Given the description of an element on the screen output the (x, y) to click on. 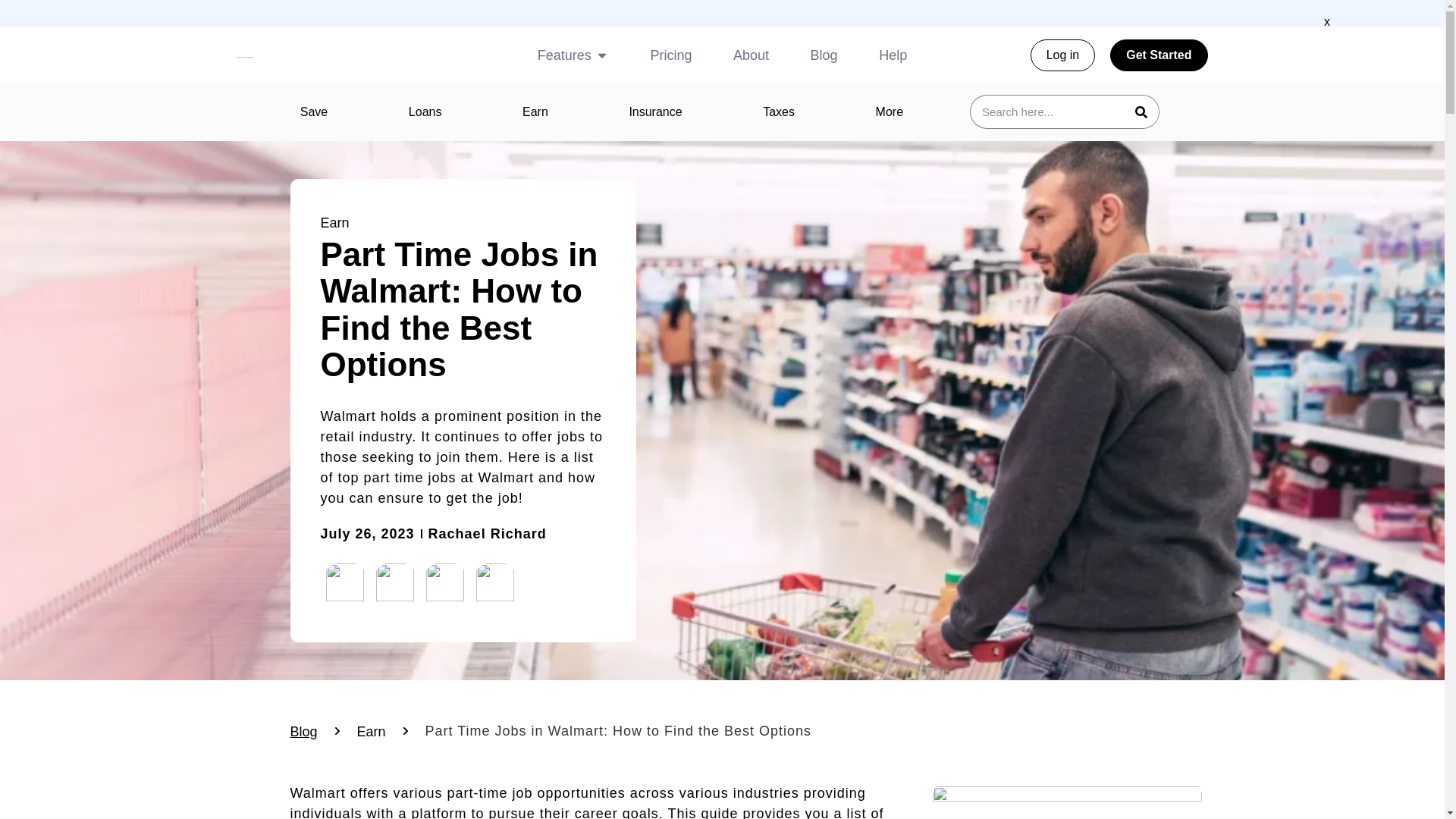
Help (893, 55)
Blog (824, 55)
Earn (534, 112)
Save (313, 112)
Insurance (655, 112)
Log in (1063, 55)
About (750, 55)
Get Started (1158, 55)
Loans (424, 112)
Pricing (670, 55)
